Given the description of an element on the screen output the (x, y) to click on. 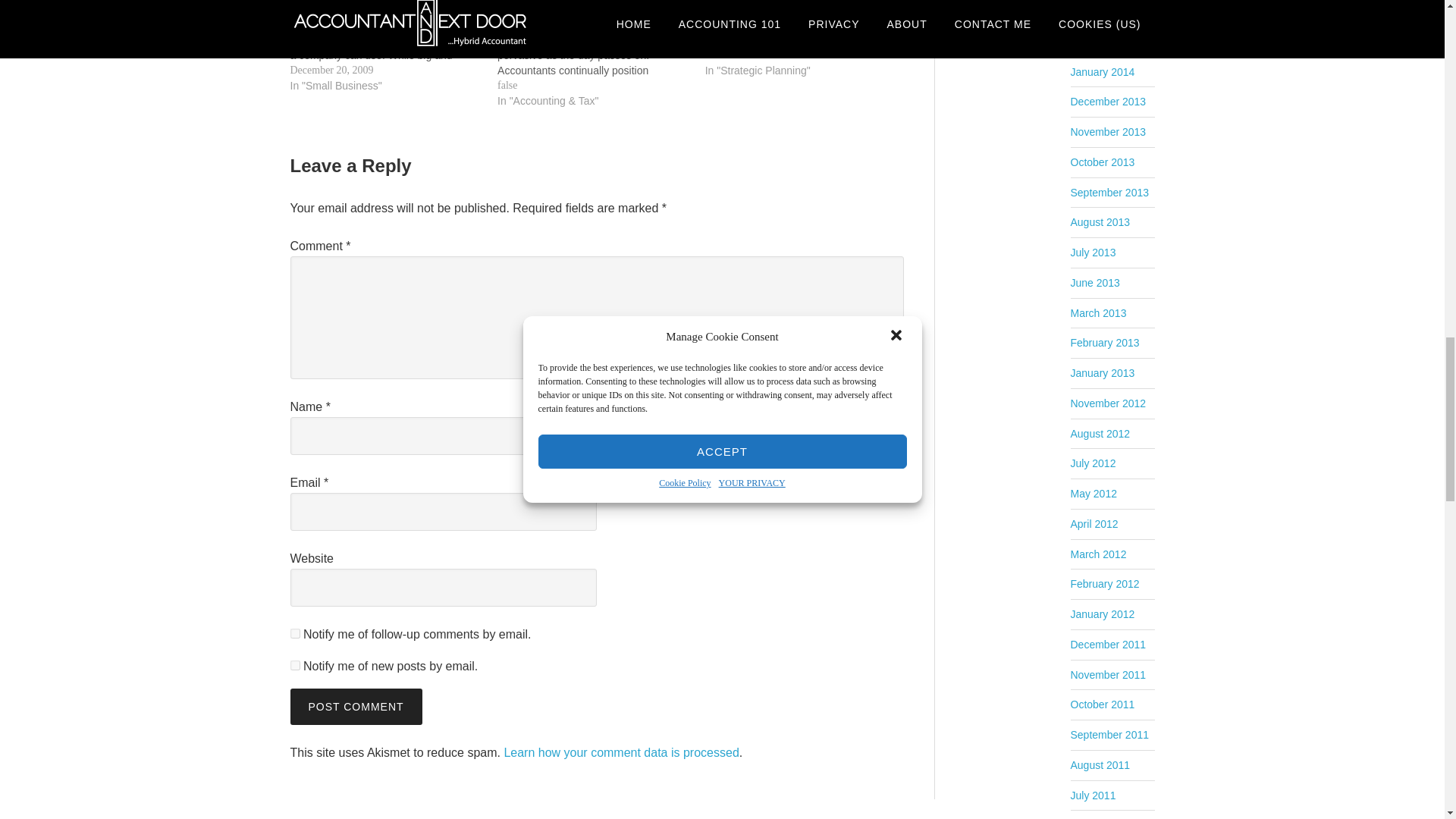
subscribe (294, 664)
subscribe (294, 633)
Post Comment (355, 706)
